Given the description of an element on the screen output the (x, y) to click on. 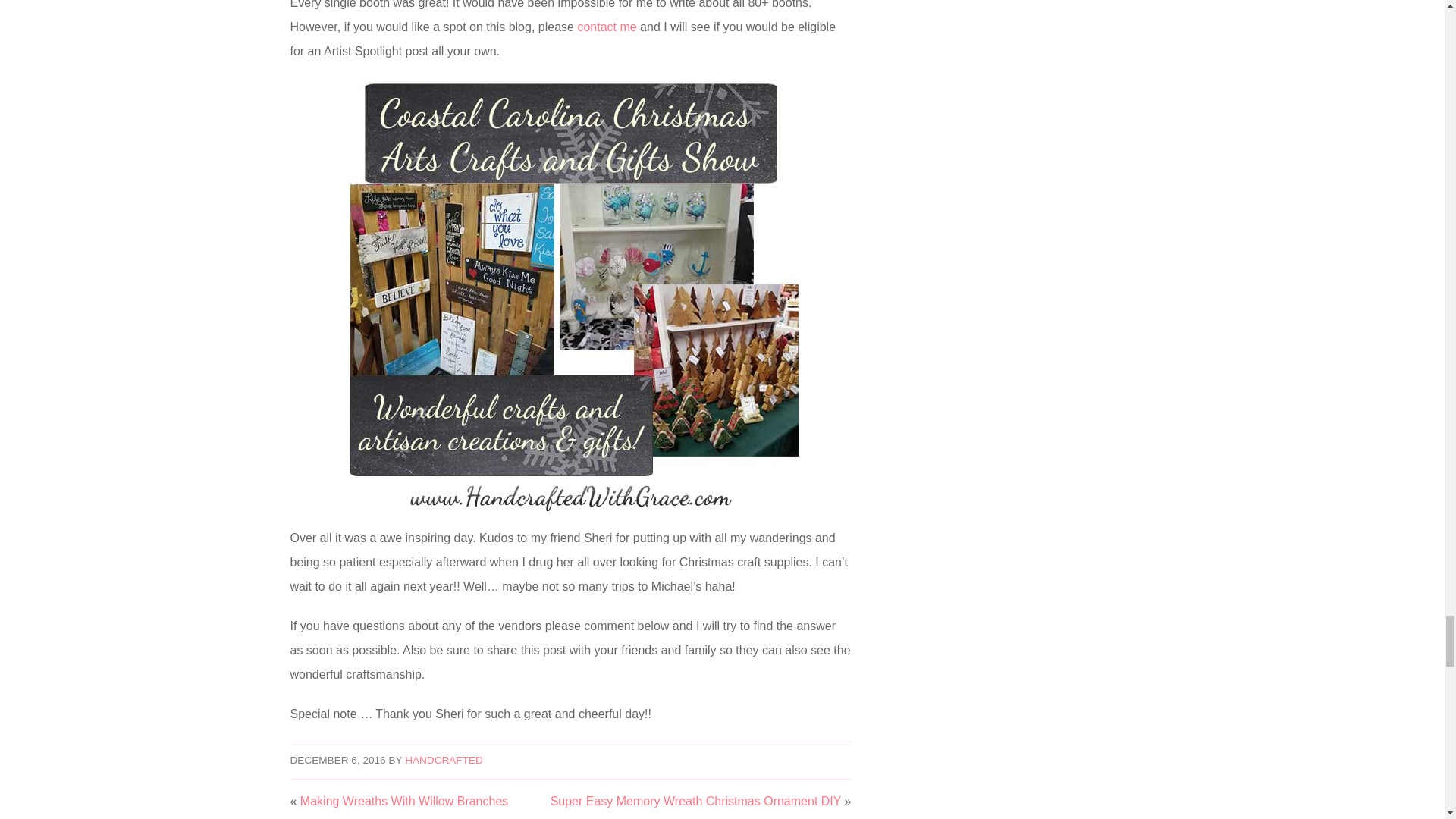
HANDCRAFTED (443, 759)
Making Wreaths With Willow Branches (403, 800)
Super Easy Memory Wreath Christmas Ornament DIY (695, 800)
contact me (606, 26)
